Given the description of an element on the screen output the (x, y) to click on. 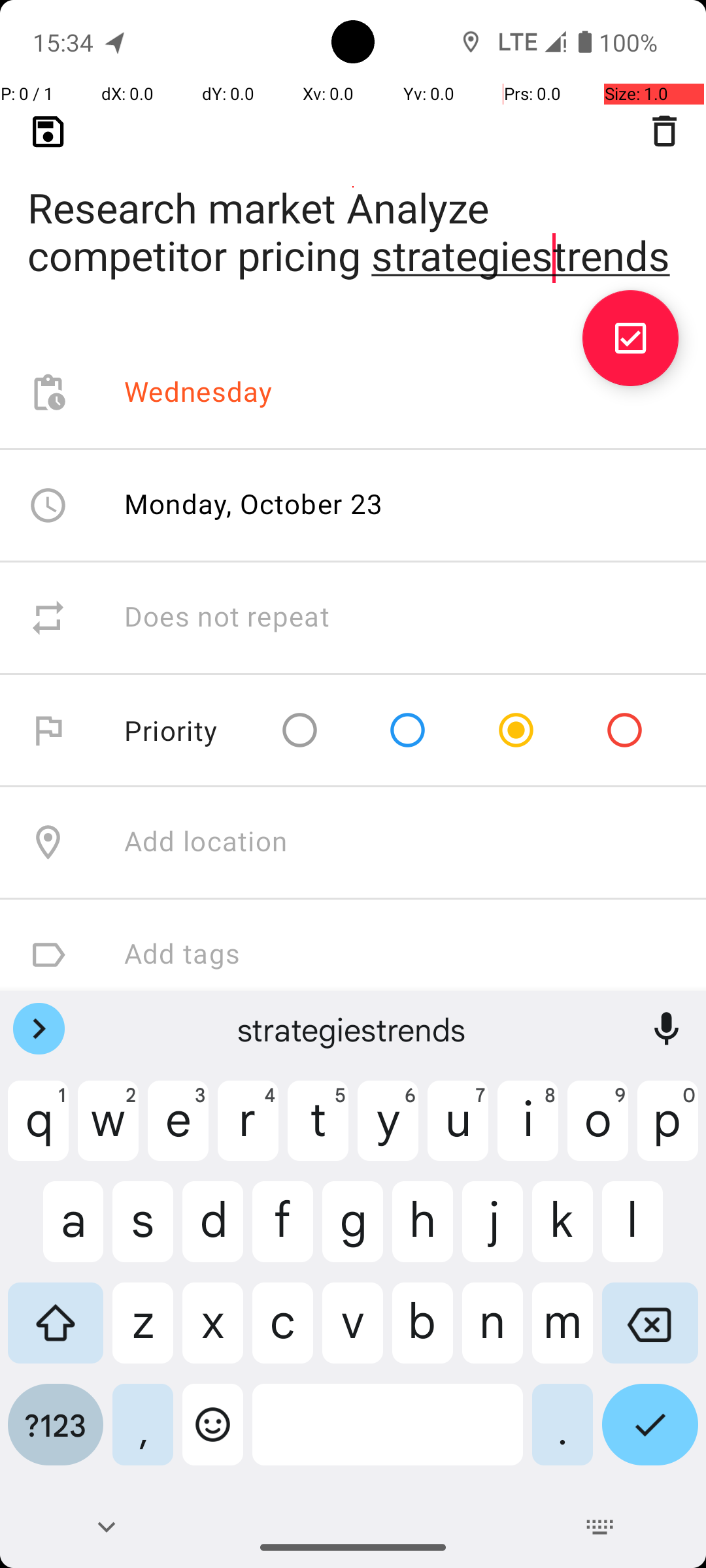
Research market Analyze competitor pricing strategiestrends Element type: android.widget.EditText (353, 210)
Monday, October 23 Element type: android.widget.TextView (253, 503)
strategiestrends Element type: android.widget.FrameLayout (352, 1028)
